Given the description of an element on the screen output the (x, y) to click on. 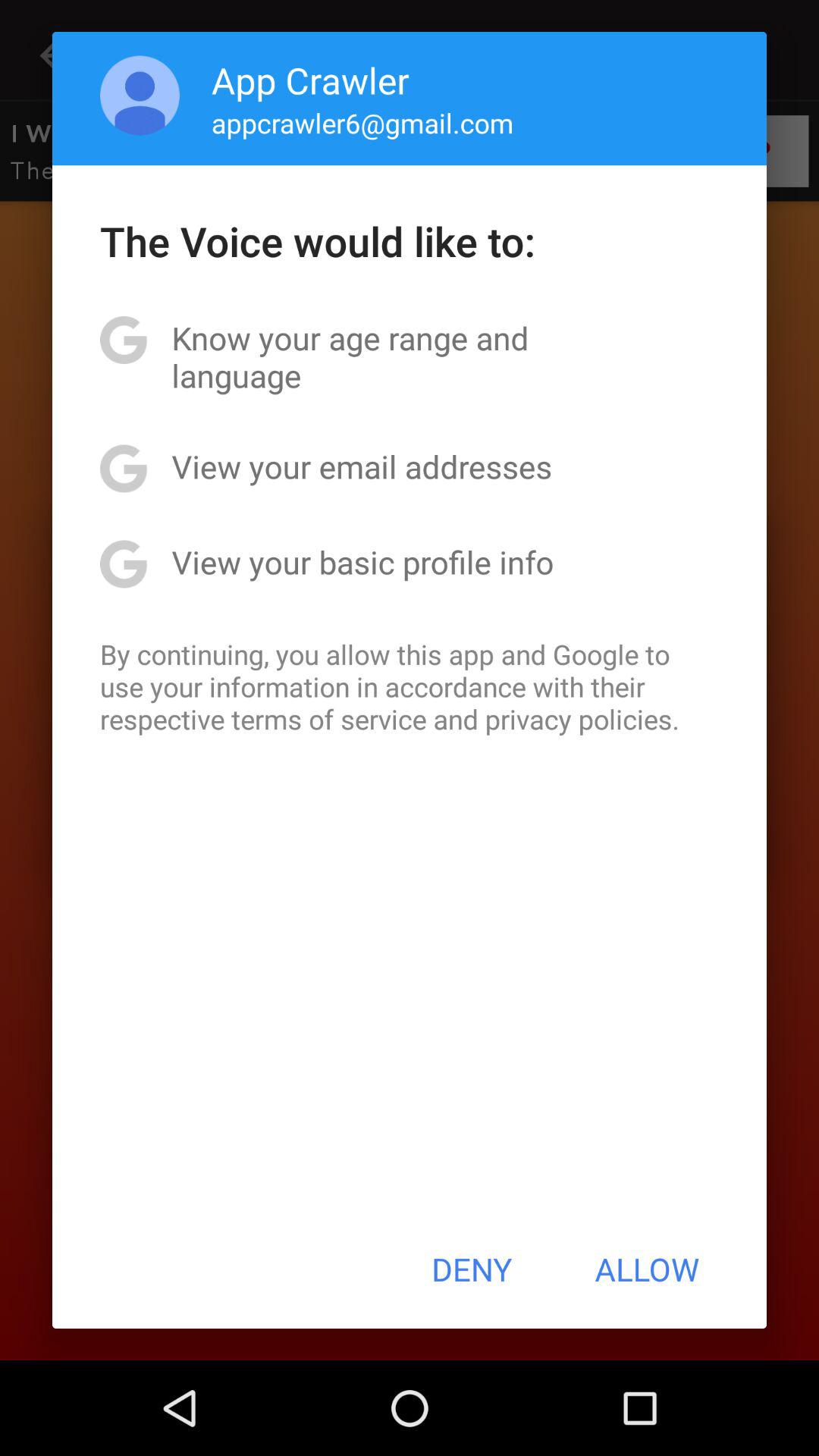
press the item to the left of app crawler item (139, 95)
